Given the description of an element on the screen output the (x, y) to click on. 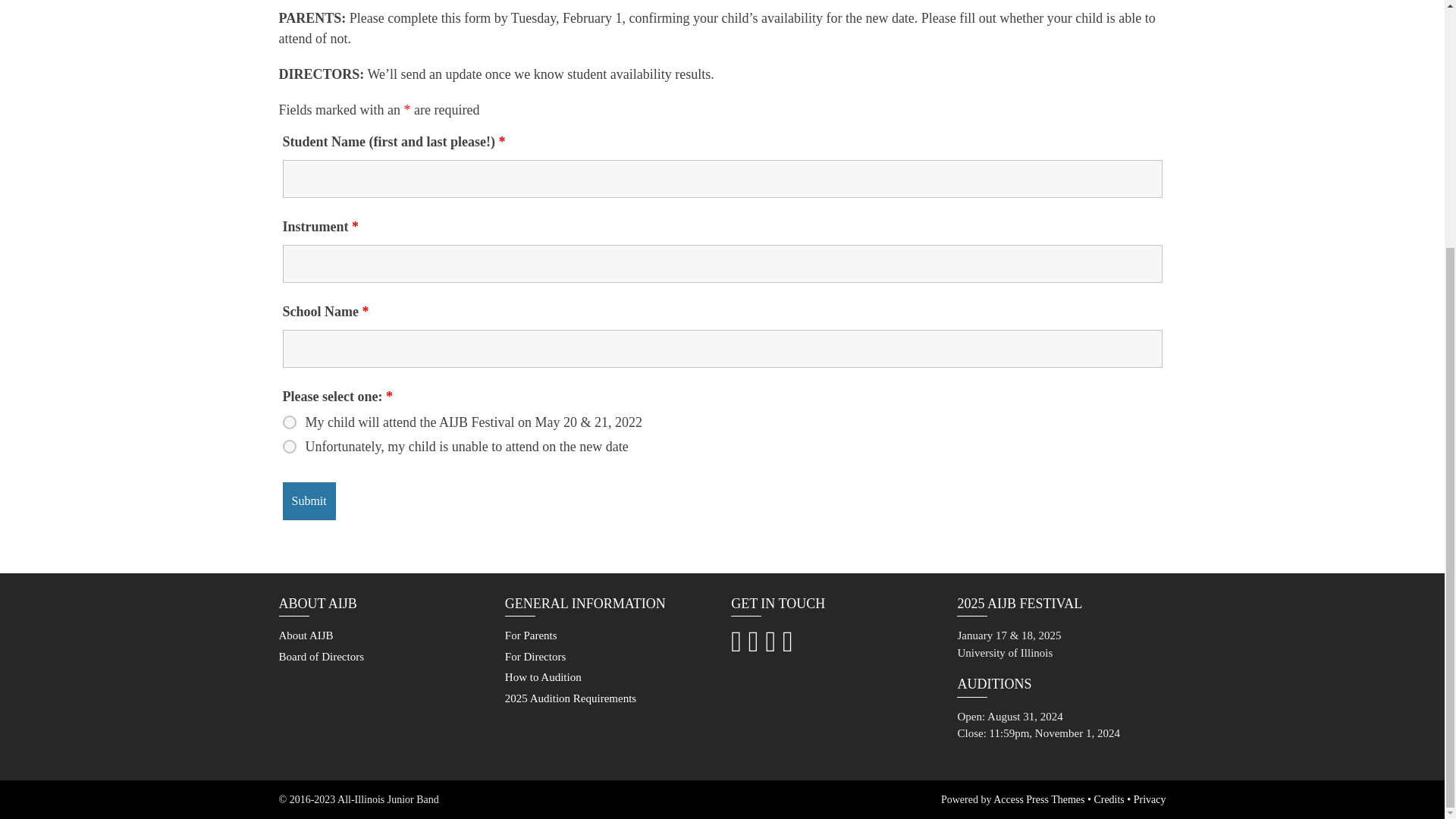
Credits (1108, 799)
Submit (308, 501)
Access Press Themes (1038, 799)
About AIJB (306, 635)
For Parents (531, 635)
2025 Audition Requirements (570, 698)
How to Audition (542, 676)
Privacy (1150, 799)
Board of Directors (321, 656)
For Directors (535, 656)
